Given the description of an element on the screen output the (x, y) to click on. 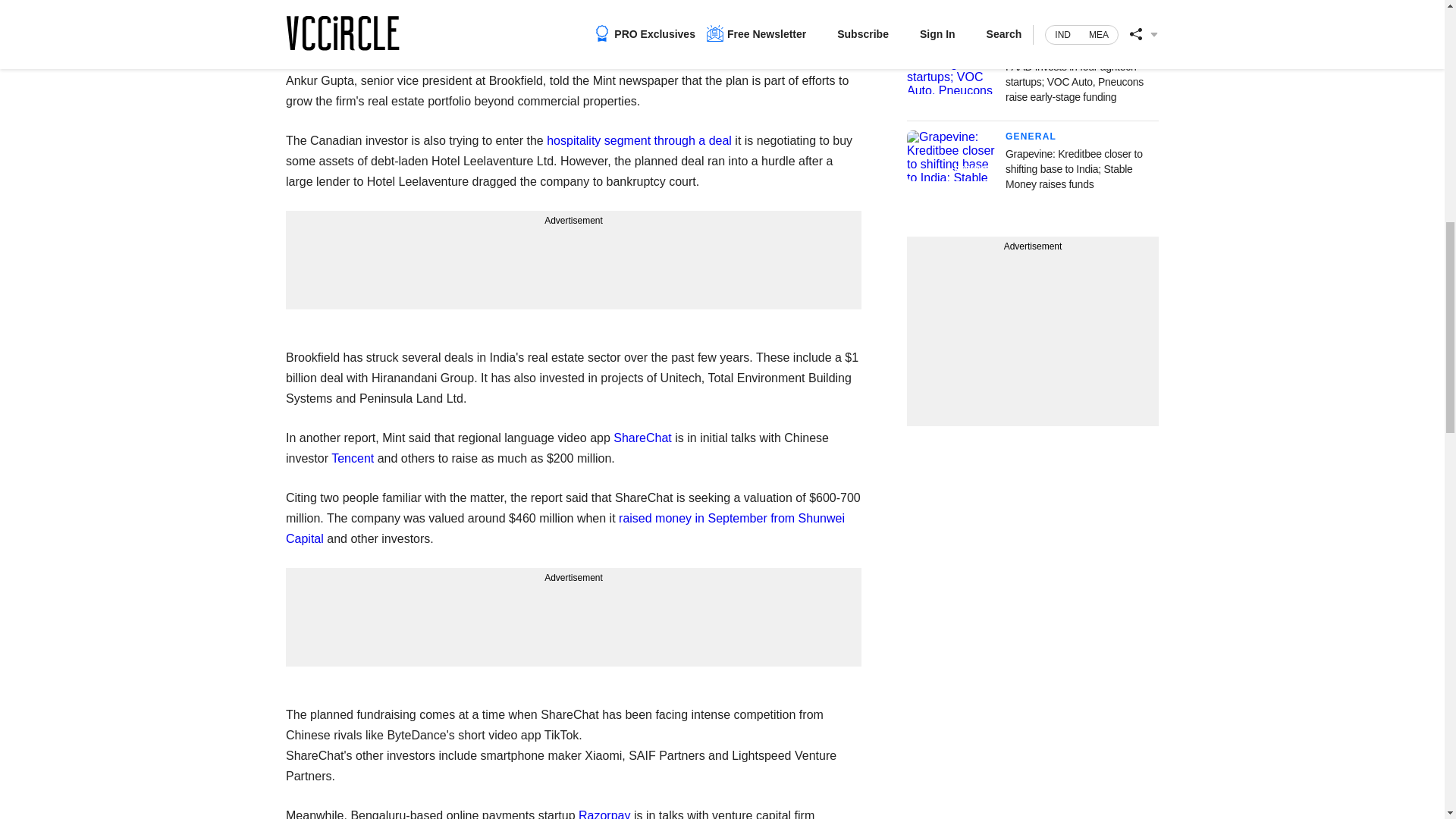
hospitality segment through a deal (639, 140)
ShareChat (641, 437)
Razorpay (604, 814)
raised money in September from Shunwei Capital (564, 528)
Tencent (352, 458)
